Given the description of an element on the screen output the (x, y) to click on. 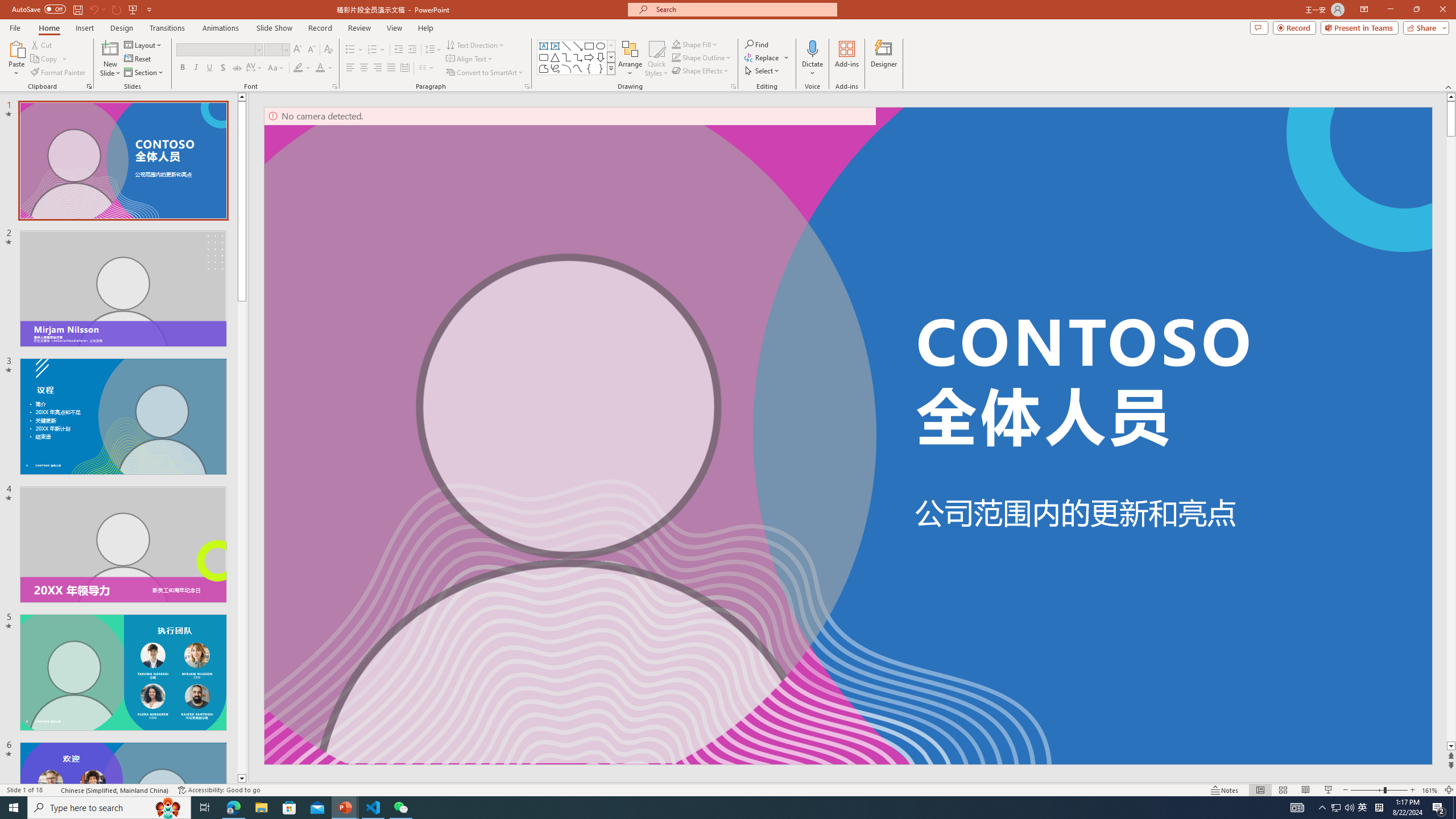
Zoom 161% (1430, 790)
